Given the description of an element on the screen output the (x, y) to click on. 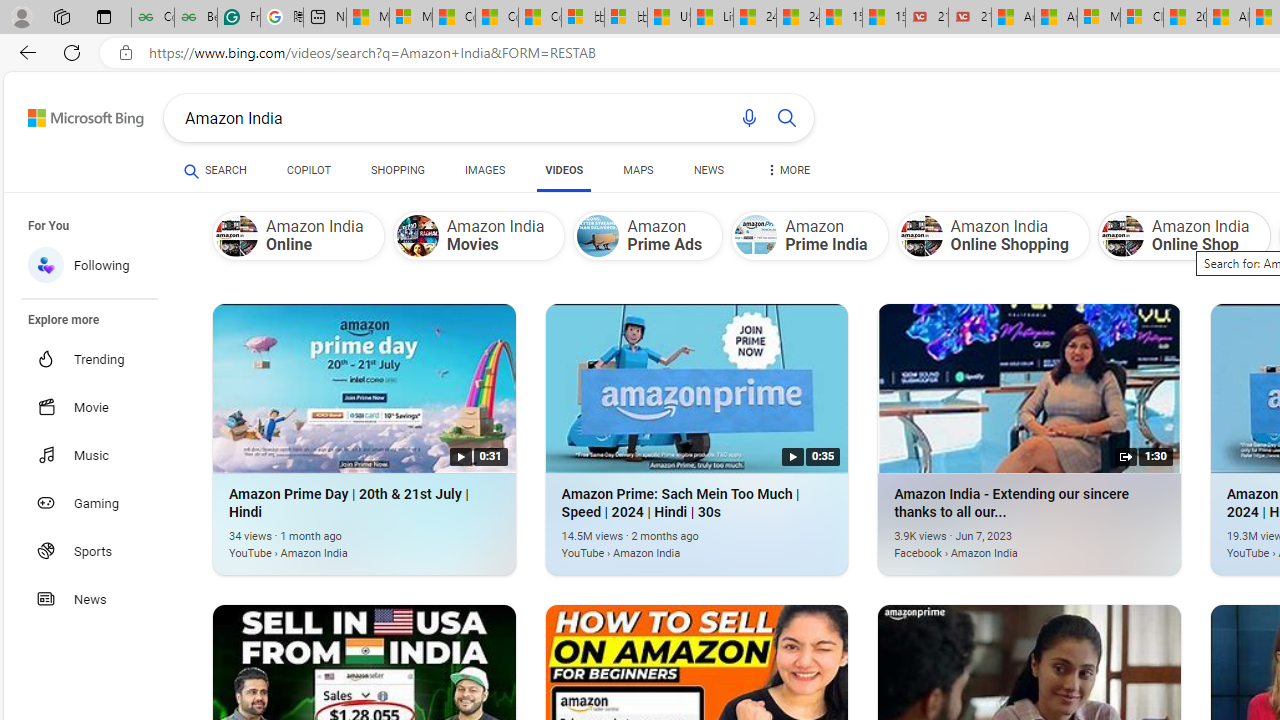
Free AI Writing Assistance for Students | Grammarly (238, 17)
Amazon India - Extending our sincere thanks to all our... (999, 542)
Amazon India Movies (478, 235)
Amazon India Online (237, 236)
Search using voice (748, 117)
SHOPPING (397, 170)
15 Ways Modern Life Contradicts the Teachings of Jesus (883, 17)
Dropdown Menu (787, 170)
